Given the description of an element on the screen output the (x, y) to click on. 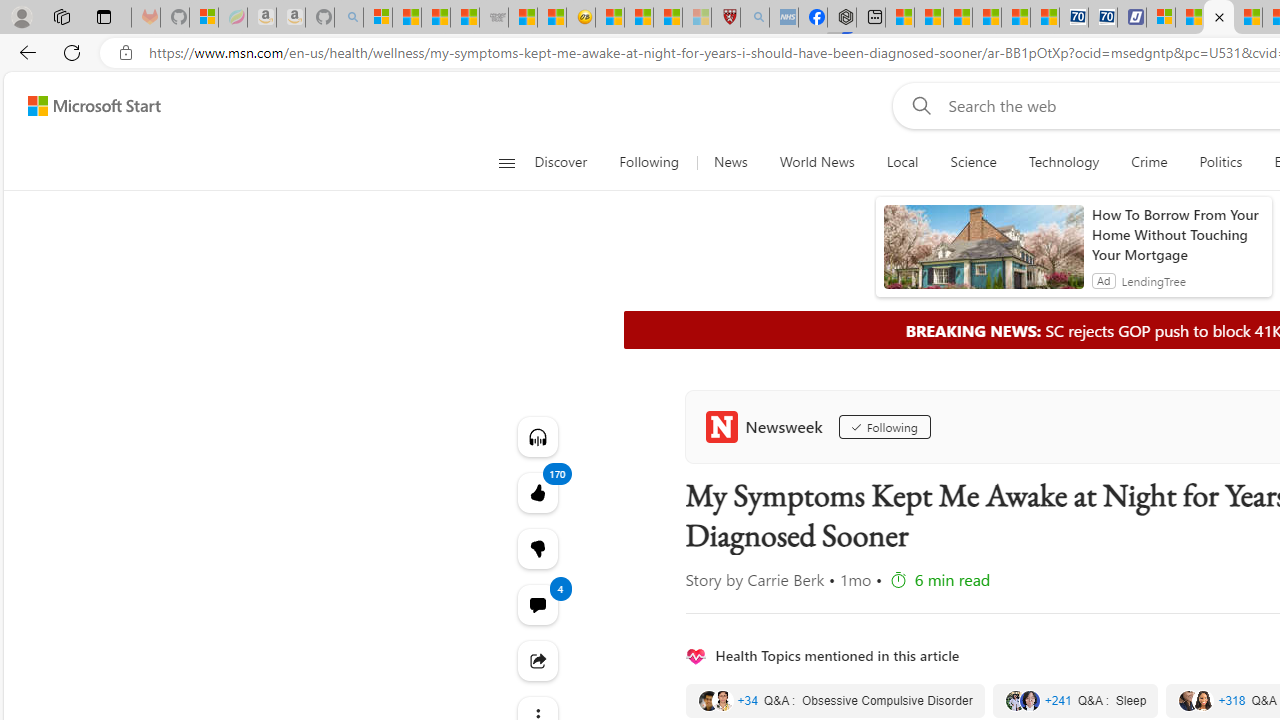
anim-content (983, 255)
World News (816, 162)
Class: quote-thumbnail (1202, 700)
Class: at-item (537, 660)
Cheap Hotels - Save70.com (1103, 17)
World News (817, 162)
12 Popular Science Lies that Must be Corrected - Sleeping (696, 17)
